Given the description of an element on the screen output the (x, y) to click on. 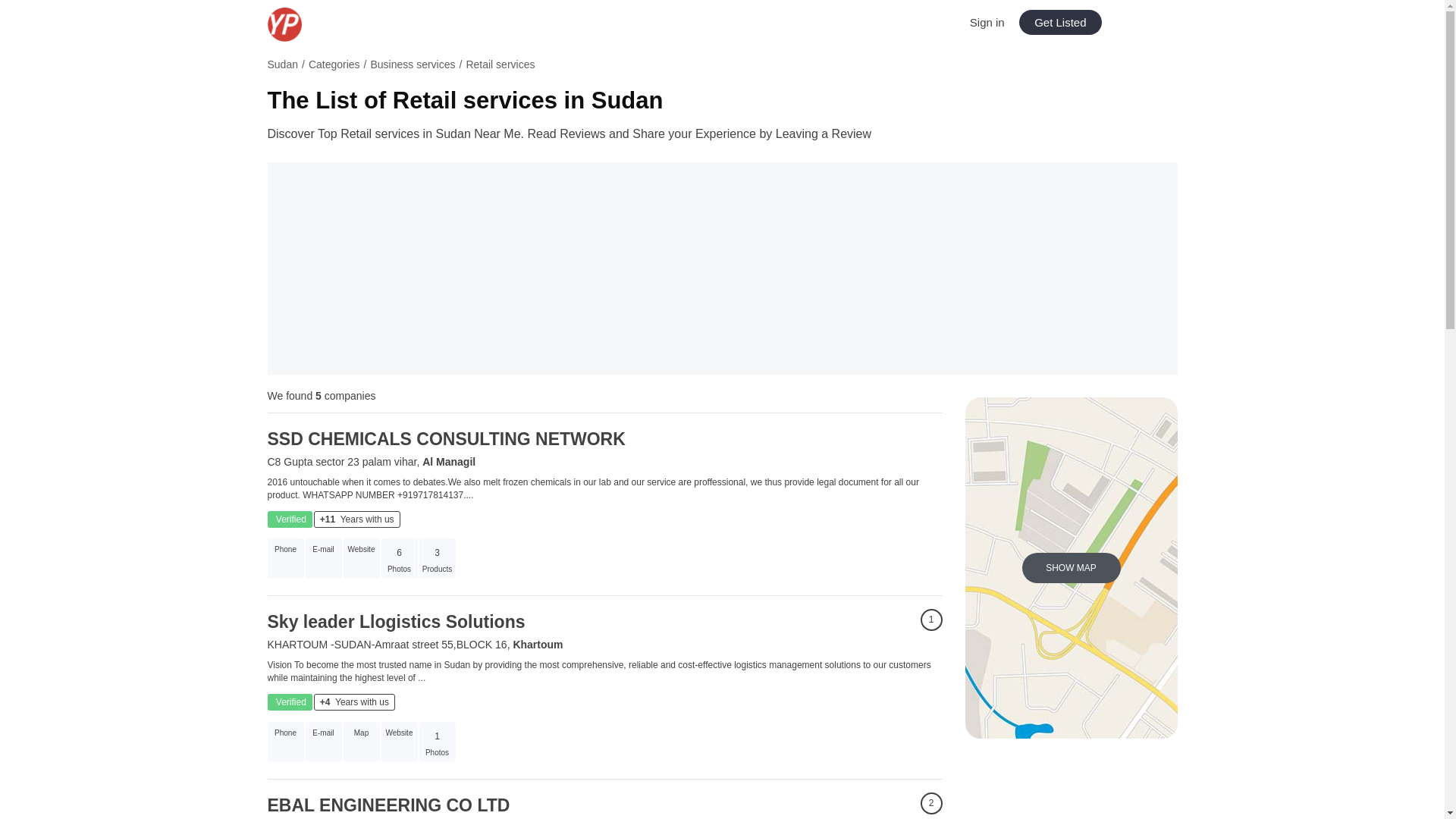
Business services (411, 64)
Companies in Khartoum (537, 644)
Get Listed (1059, 22)
Get Listed (1059, 22)
EBAL ENGINEERING CO LTD (387, 804)
EBAL ENGINEERING CO LTD (387, 804)
Khartoum (537, 644)
Sudan Categories Business services Retail services (721, 67)
Categories (333, 64)
SSD CHEMICALS CONSULTING NETWORK (445, 438)
Sky leader Llogistics Solutions (395, 621)
Sudan (281, 64)
Sudan Business Directory - SudanYP (319, 24)
2 (931, 803)
